Given the description of an element on the screen output the (x, y) to click on. 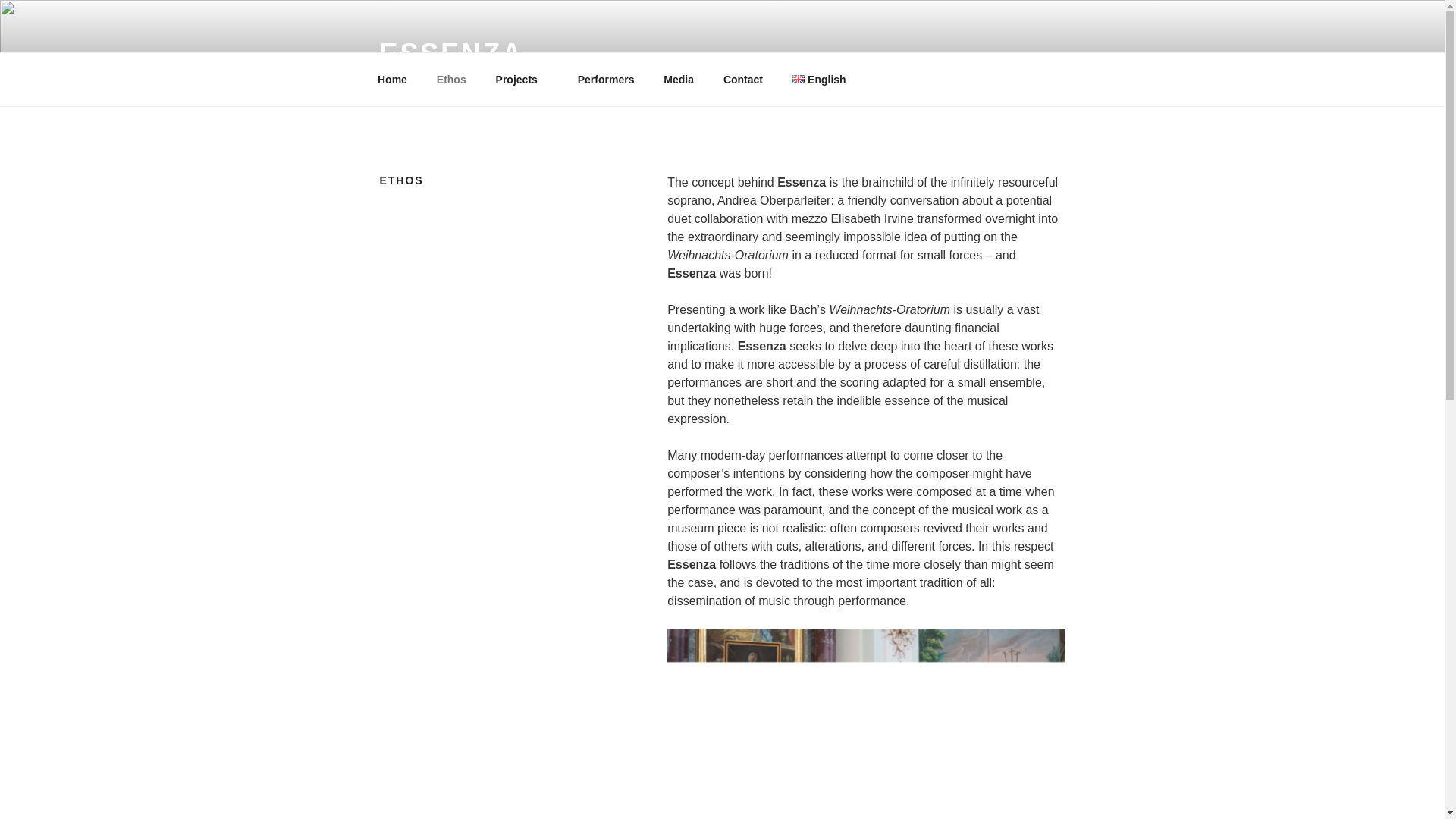
Home (392, 78)
Performers (605, 78)
Media (678, 78)
Contact (743, 78)
Ethos (451, 78)
English (823, 78)
Projects (520, 78)
ESSENZA (450, 52)
